Given the description of an element on the screen output the (x, y) to click on. 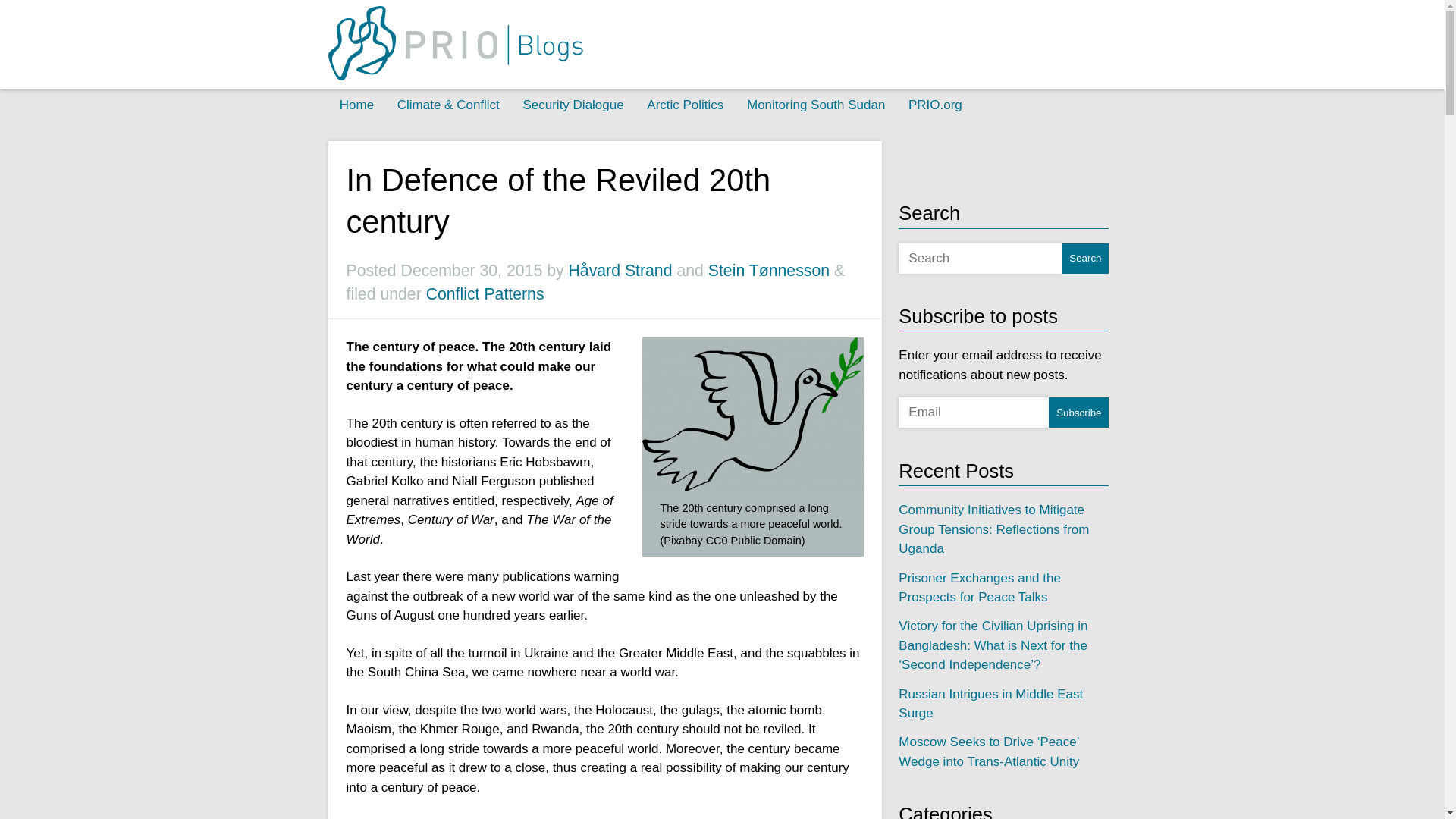
Arctic Politics (684, 105)
Search (1084, 258)
Monitoring South Sudan (815, 105)
PRIO.org (935, 105)
Home (356, 105)
Security Dialogue (572, 105)
Conflict Patterns (485, 294)
Subscribe (1078, 412)
Russian Intrigues in Middle East Surge (990, 704)
